Given the description of an element on the screen output the (x, y) to click on. 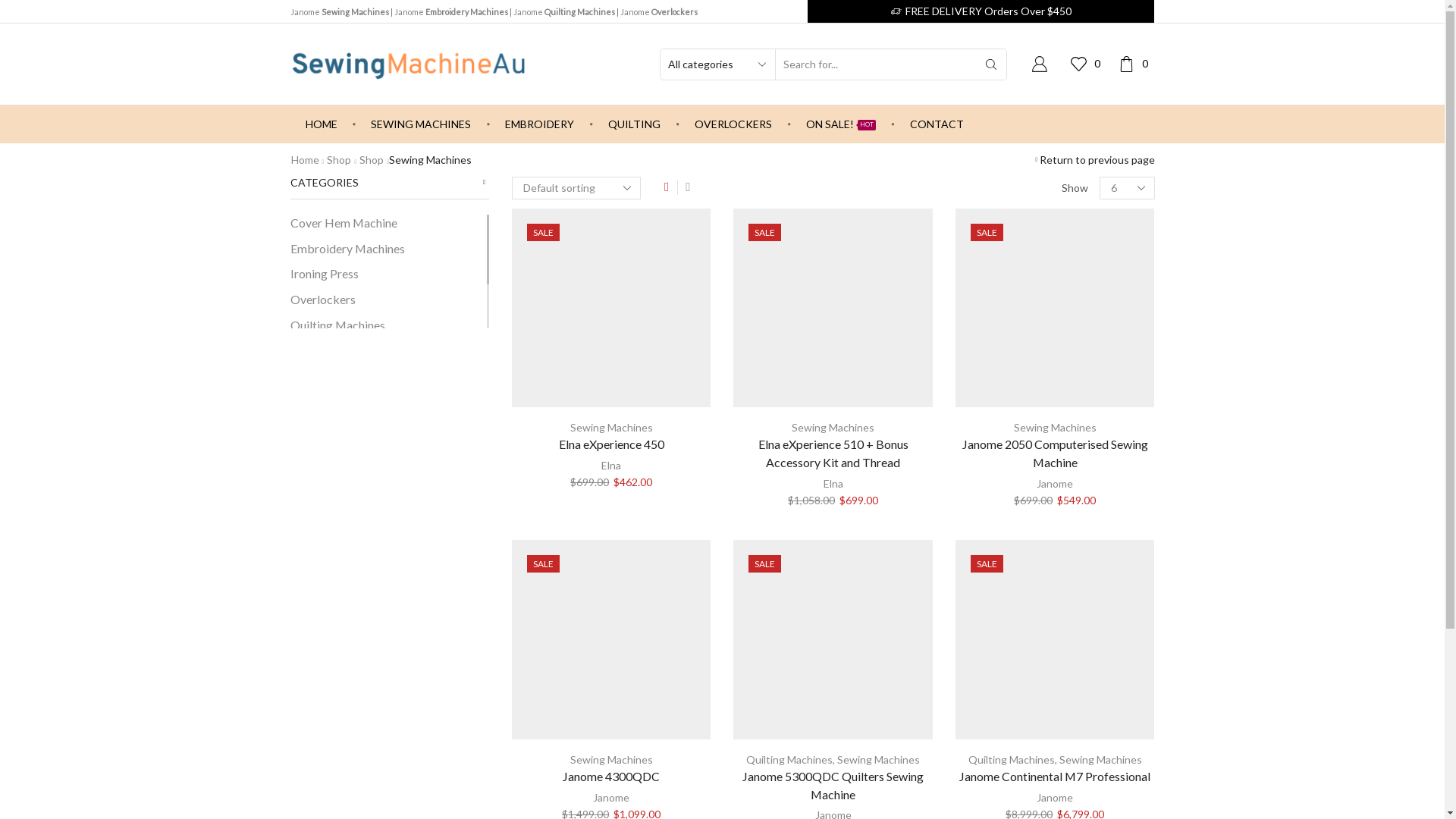
Overlockers Element type: text (321, 300)
Return to previous page Element type: text (1096, 159)
Home Element type: text (304, 159)
Elna Element type: text (611, 464)
Sewing Machines Element type: text (611, 426)
Sewing Machines Element type: text (1100, 759)
EMBROIDERY Element type: text (539, 124)
Sewing Machines Element type: text (878, 759)
Cover Hem Machine Element type: text (342, 224)
Embroidery Machines Element type: text (346, 248)
CONTACT Element type: text (936, 124)
Sewing Machines Element type: text (832, 426)
Uncategorized Element type: text (328, 374)
Shop Element type: text (338, 159)
Janome Overlockers Element type: text (658, 11)
Shop Element type: text (371, 159)
Sewing Machines Element type: text (611, 759)
Quilting Machines Element type: text (1011, 759)
Janome 2050 Computerised Sewing Machine Element type: text (1054, 453)
Sewing Machines Element type: text (334, 351)
Janome Embroidery Machines Element type: text (451, 11)
Janome Sewing Machines Element type: text (338, 11)
HOME Element type: text (320, 124)
Quilting Machines Element type: text (336, 325)
Ironing Press Element type: text (323, 274)
0 Element type: text (1136, 63)
Elna eXperience 450 Element type: text (610, 444)
Janome 5300QDC Quilters Sewing Machine Element type: text (832, 785)
Quilting Machines Element type: text (789, 759)
Janome Continental M7 Professional Element type: text (1054, 776)
Janome Element type: text (1054, 482)
OVERLOCKERS Element type: text (733, 124)
ON SALE!HOT Element type: text (840, 124)
0 Element type: text (1088, 63)
Janome Element type: text (1054, 796)
Janome Quilting Machines Element type: text (563, 11)
Janome 4300QDC Element type: text (610, 776)
QUILTING Element type: text (634, 124)
SEWING MACHINES Element type: text (420, 124)
Log in Element type: text (932, 274)
Sewing Machines Element type: text (1054, 426)
Elna eXperience 510 + Bonus Accessory Kit and Thread Element type: text (832, 453)
Janome Element type: text (611, 796)
Elna Element type: text (833, 482)
